Given the description of an element on the screen output the (x, y) to click on. 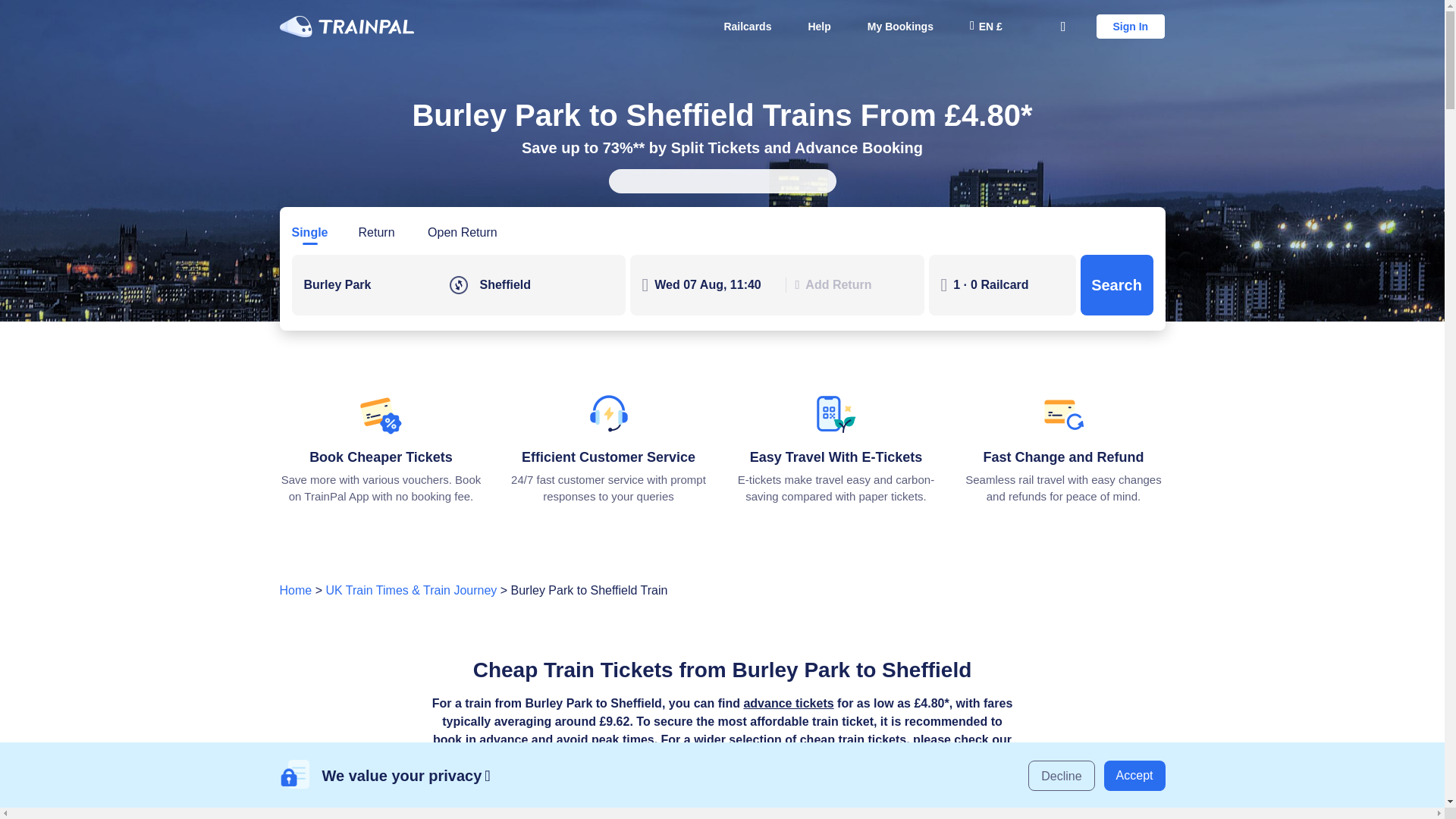
Sign In (1131, 26)
Railcards (747, 26)
Wed 07 Aug, 11:40 (714, 284)
Help (818, 26)
Customer reviews powered by Trustpilot (721, 181)
Burley Park (369, 284)
My Bookings (900, 26)
Sheffield (545, 284)
